Given the description of an element on the screen output the (x, y) to click on. 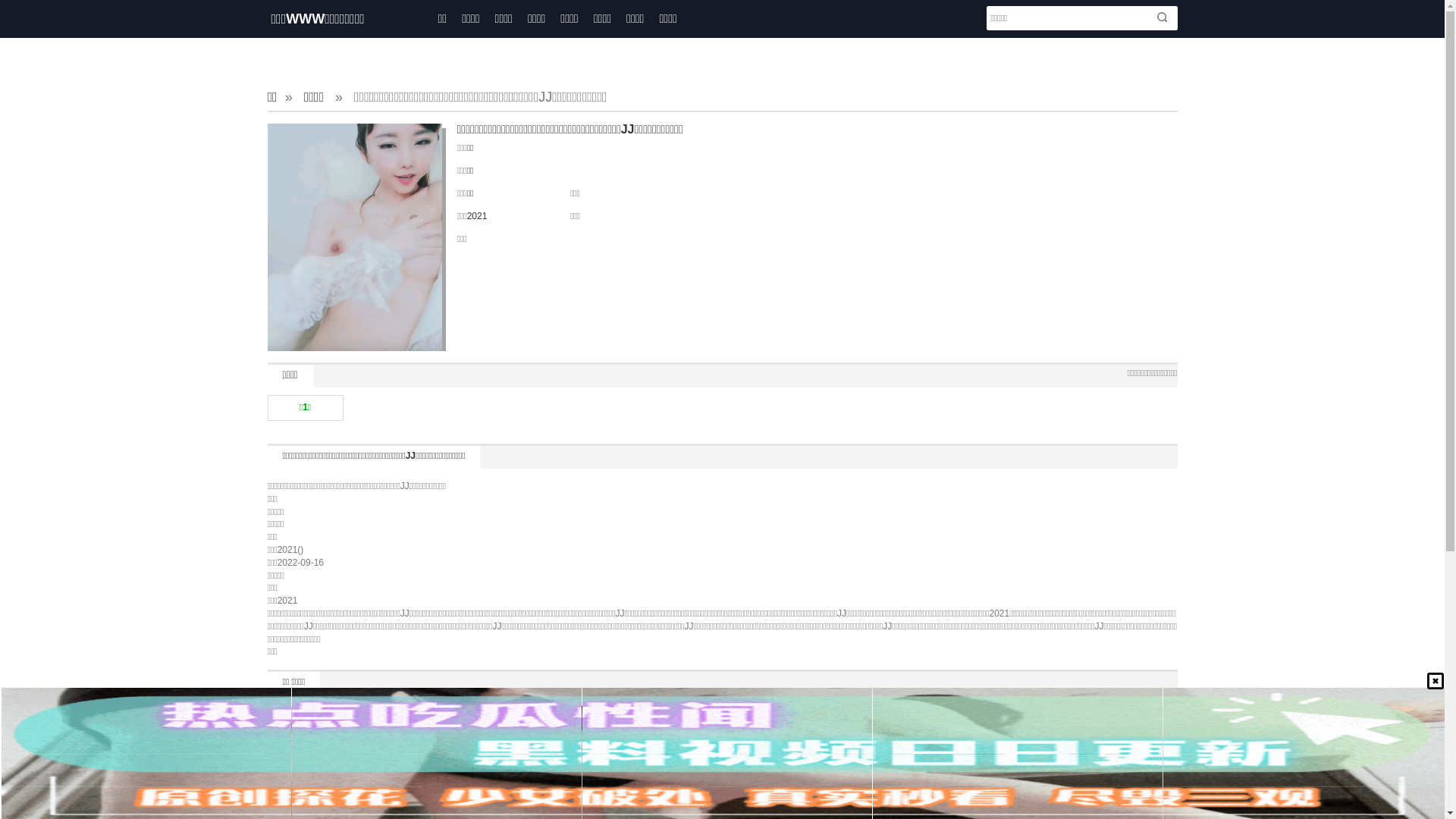
2021 Element type: text (477, 215)
